Given the description of an element on the screen output the (x, y) to click on. 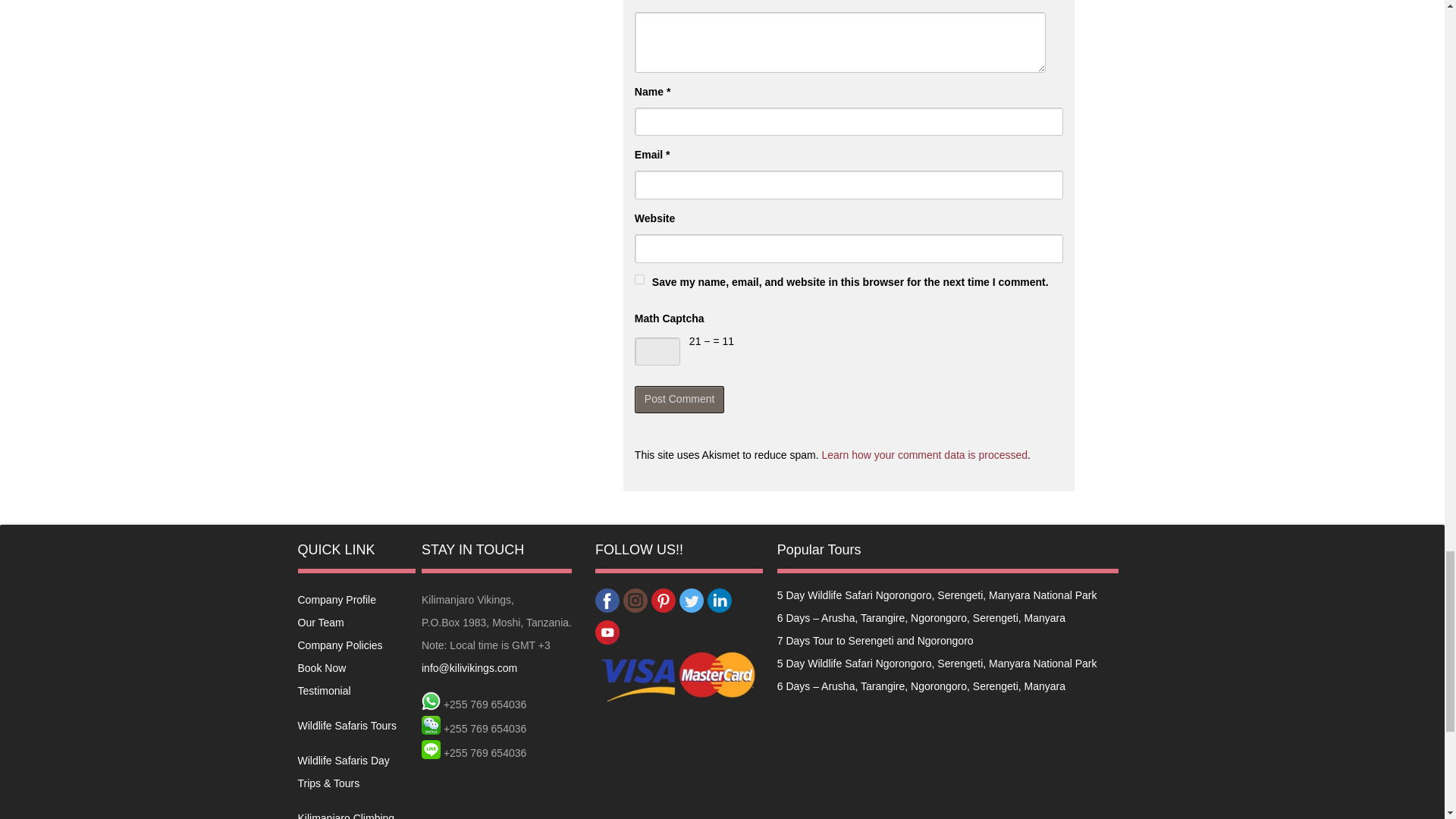
Post Comment (679, 399)
visa (678, 677)
yes (639, 279)
